Given the description of an element on the screen output the (x, y) to click on. 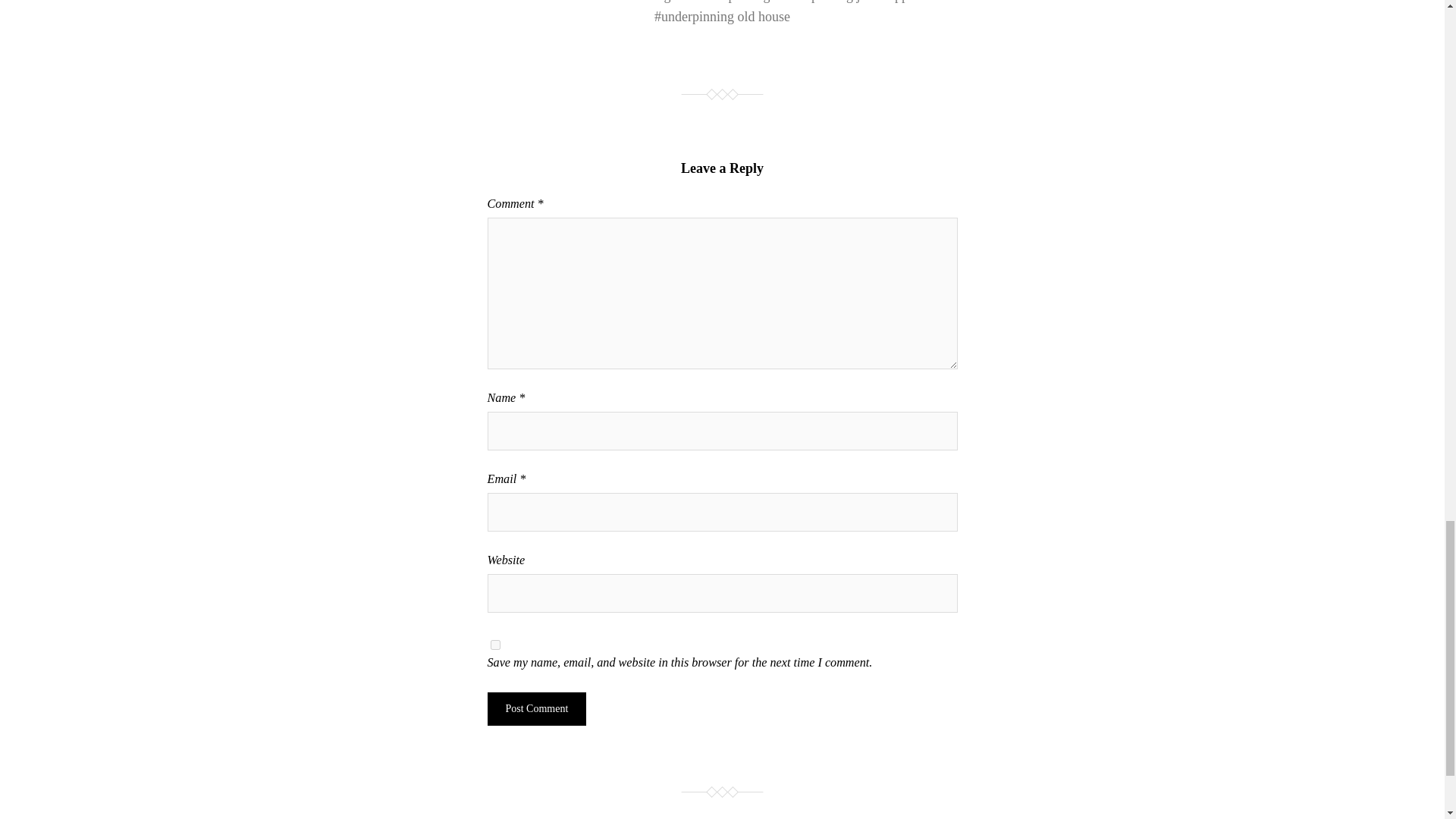
yes (494, 644)
underpinning jack supports (854, 1)
difference between shoring and underpinning (646, 1)
Post Comment (536, 708)
underpinning old house (725, 16)
Post Comment (536, 708)
